Given the description of an element on the screen output the (x, y) to click on. 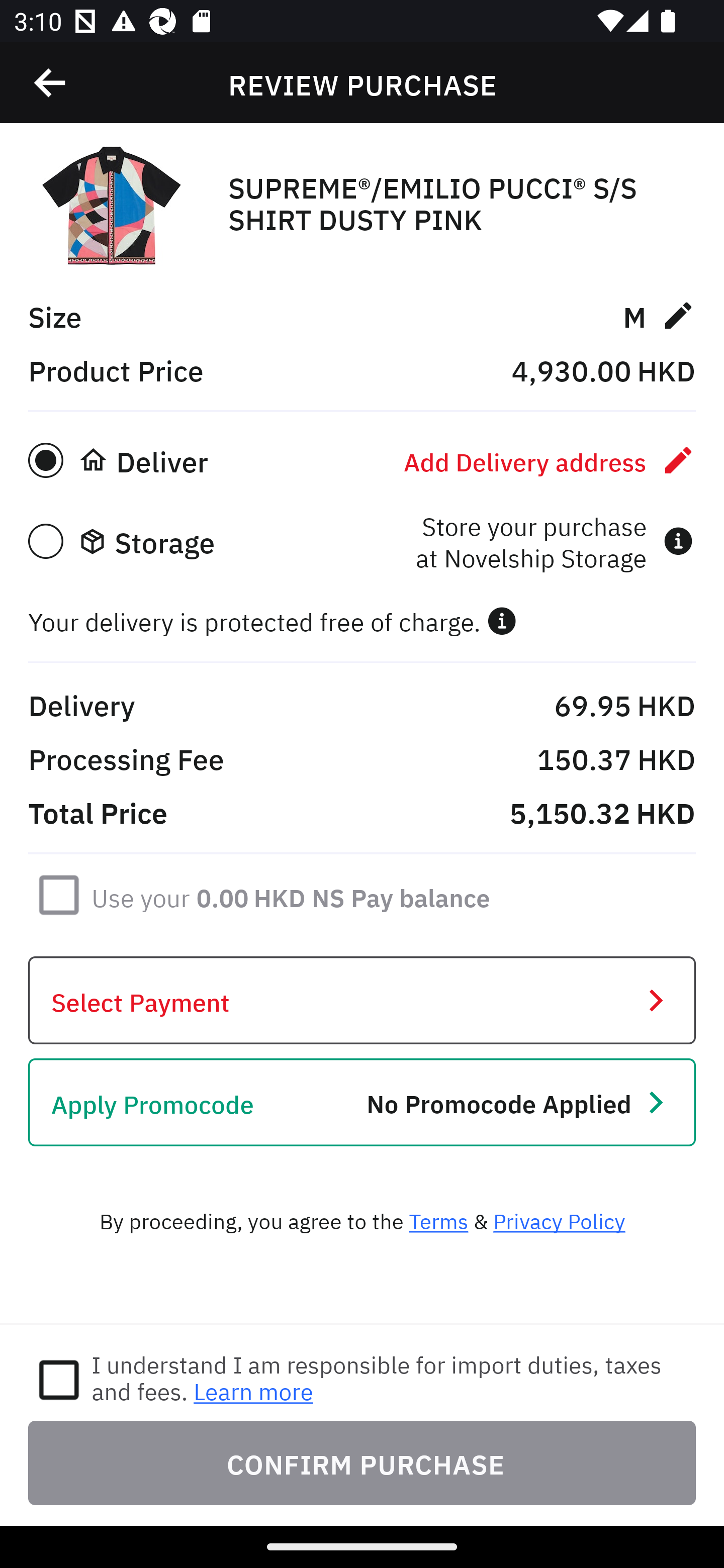
 (50, 83)
M 󰏫 (658, 314)
󰚡 Deliver Add Delivery address 󰏫 (361, 459)
Add Delivery address 󰏫 (549, 460)
Store your purchase
at Novelship Storage  (554, 540)
 (501, 620)
Use your 0.00 HKD NS Pay balance (290, 894)
Select Payment  (361, 1000)
Apply Promocode No Promocode Applied  (361, 1102)
 CONFIRM PURCHASE (361, 1462)
